Given the description of an element on the screen output the (x, y) to click on. 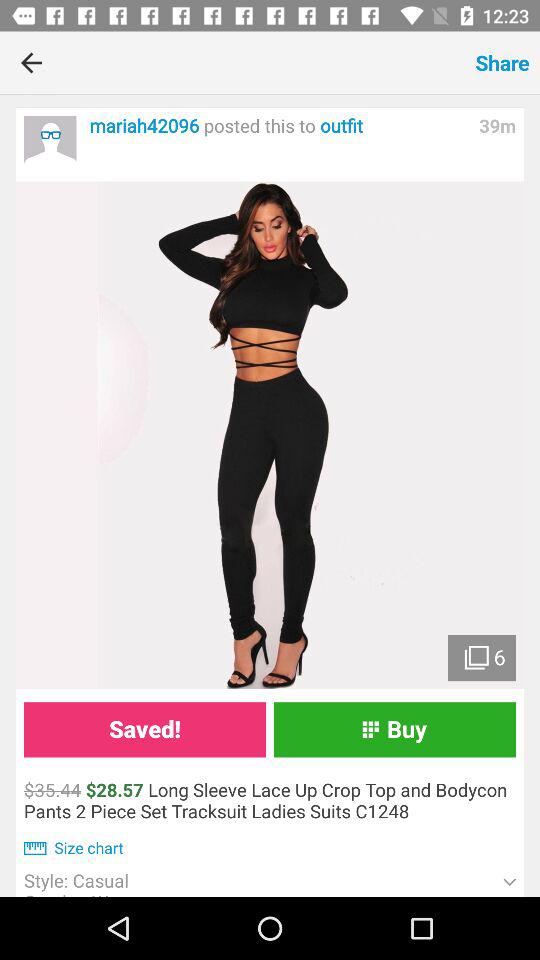
press the item above 35 44 28 icon (144, 729)
